Given the description of an element on the screen output the (x, y) to click on. 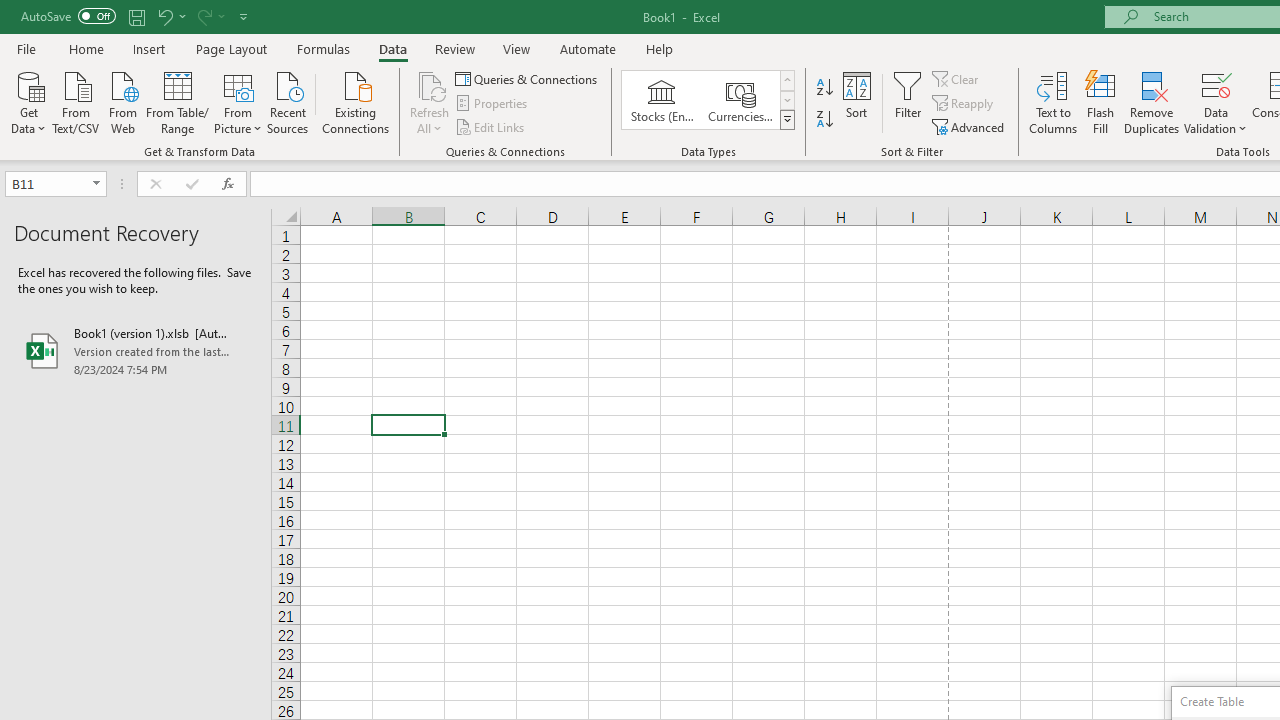
Edit Links (491, 126)
Insert (149, 48)
Reapply (964, 103)
Advanced... (970, 126)
Row Down (786, 100)
Save (136, 15)
Class: NetUIImage (787, 119)
Existing Connections (355, 101)
Data Validation... (1215, 102)
From Web (122, 101)
